Given the description of an element on the screen output the (x, y) to click on. 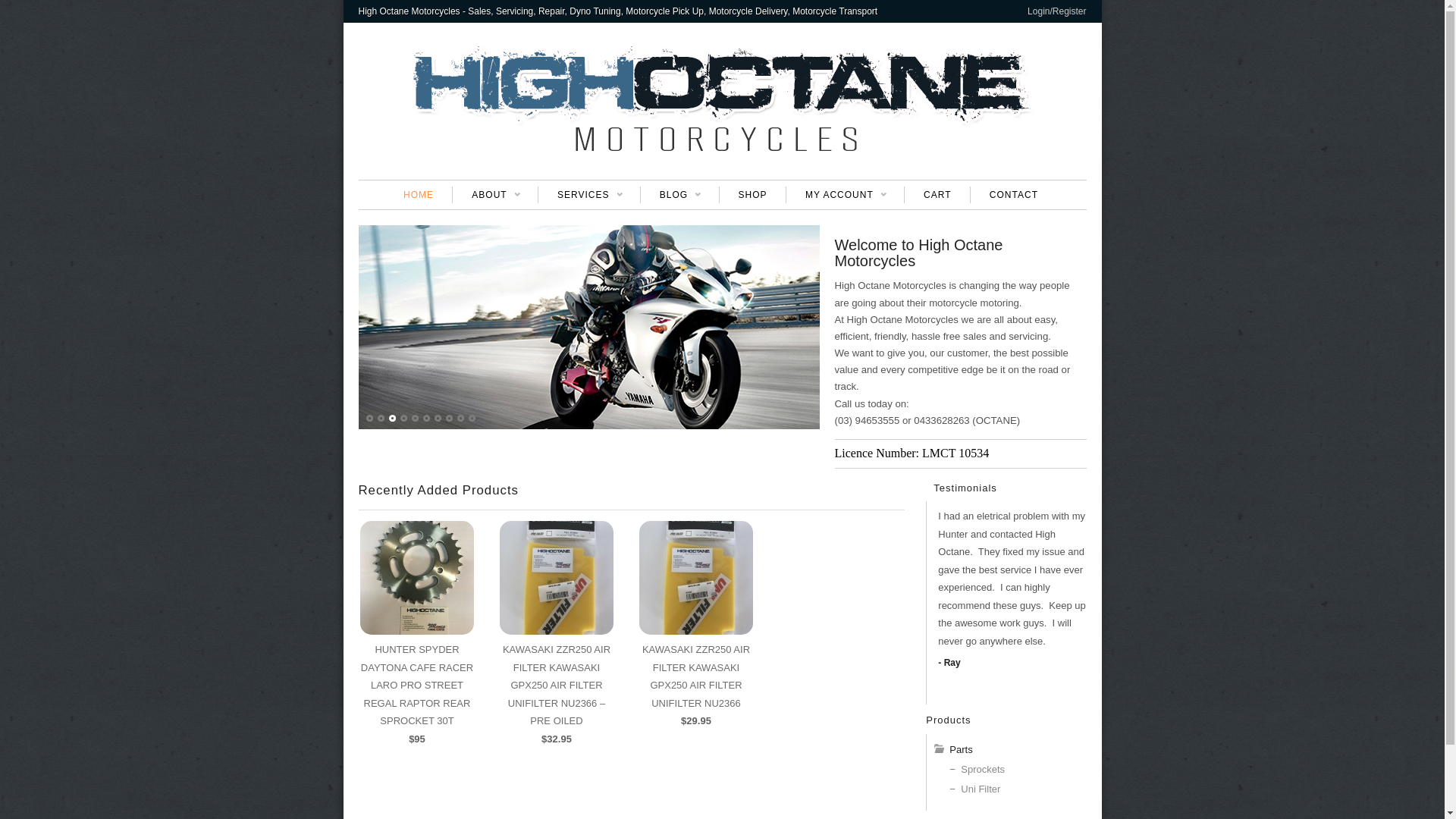
3 Element type: text (391, 417)
10 Element type: text (472, 417)
Login/Register Element type: text (1056, 11)
SHOP Element type: text (752, 194)
6 Element type: text (426, 417)
High Octane Motorcyles Element type: hover (721, 147)
5 Element type: text (414, 417)
7 Element type: text (437, 417)
Parts Element type: text (960, 749)
9 Element type: text (460, 417)
Sprockets Element type: text (982, 769)
Uni Filter Element type: text (980, 788)
1 Element type: text (369, 417)
Ray Element type: text (947, 662)
CONTACT Element type: text (1013, 194)
8 Element type: text (449, 417)
CART Element type: text (936, 194)
HOME Element type: text (418, 194)
4 Element type: text (403, 417)
2 Element type: text (381, 417)
